Given the description of an element on the screen output the (x, y) to click on. 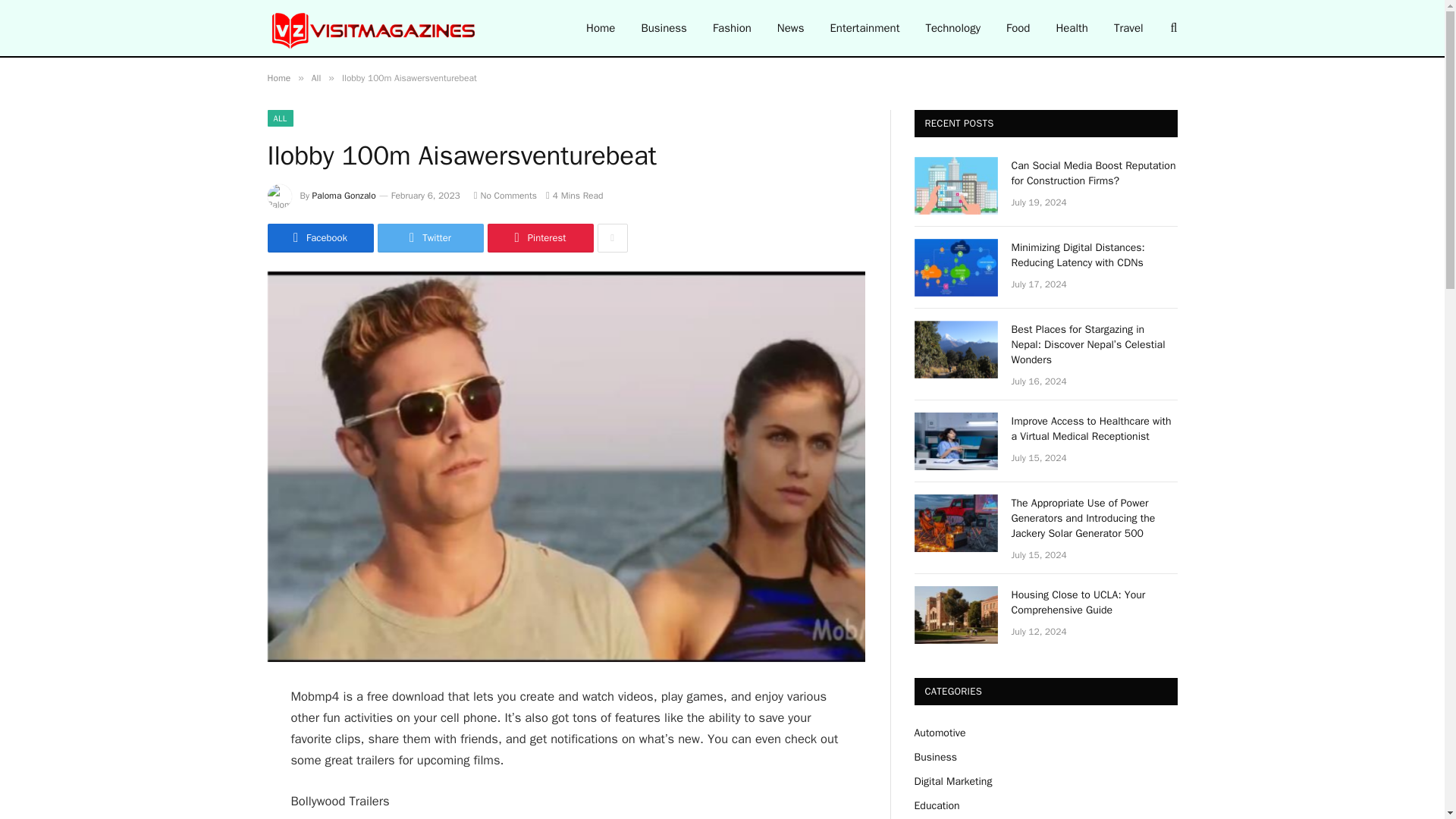
Technology (952, 28)
Health (1071, 28)
Share on Facebook (319, 237)
Show More Social Sharing (611, 237)
Fashion (732, 28)
No Comments (505, 195)
News (790, 28)
Business (663, 28)
ALL (279, 117)
Share on Pinterest (539, 237)
Home (277, 78)
Travel (1128, 28)
Pinterest (539, 237)
Visitmagazines (373, 28)
Entertainment (864, 28)
